Given the description of an element on the screen output the (x, y) to click on. 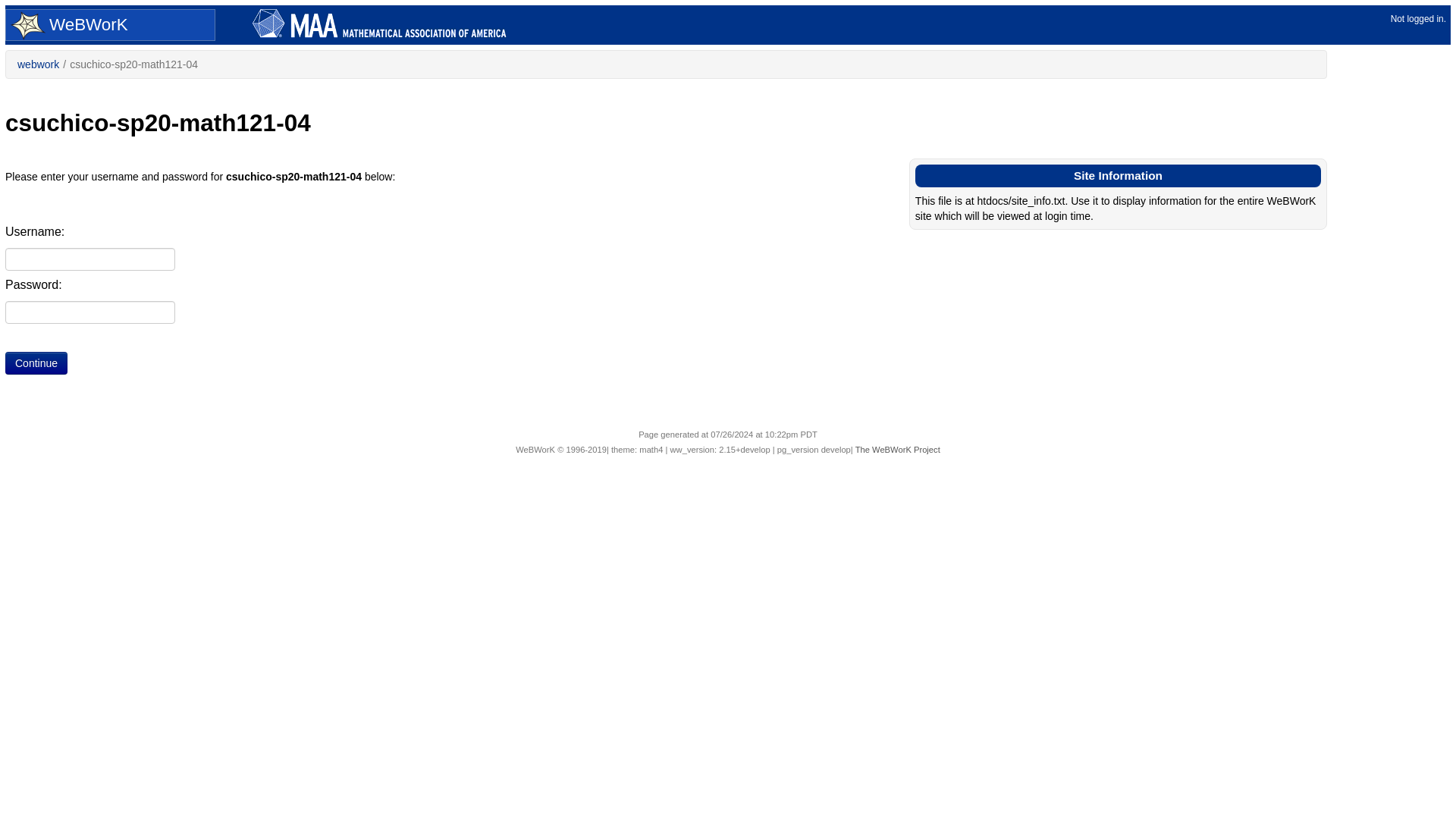
Continue (35, 363)
Continue (35, 363)
webwork (38, 64)
WeBWorK (108, 25)
The WeBWorK Project (898, 449)
